Given the description of an element on the screen output the (x, y) to click on. 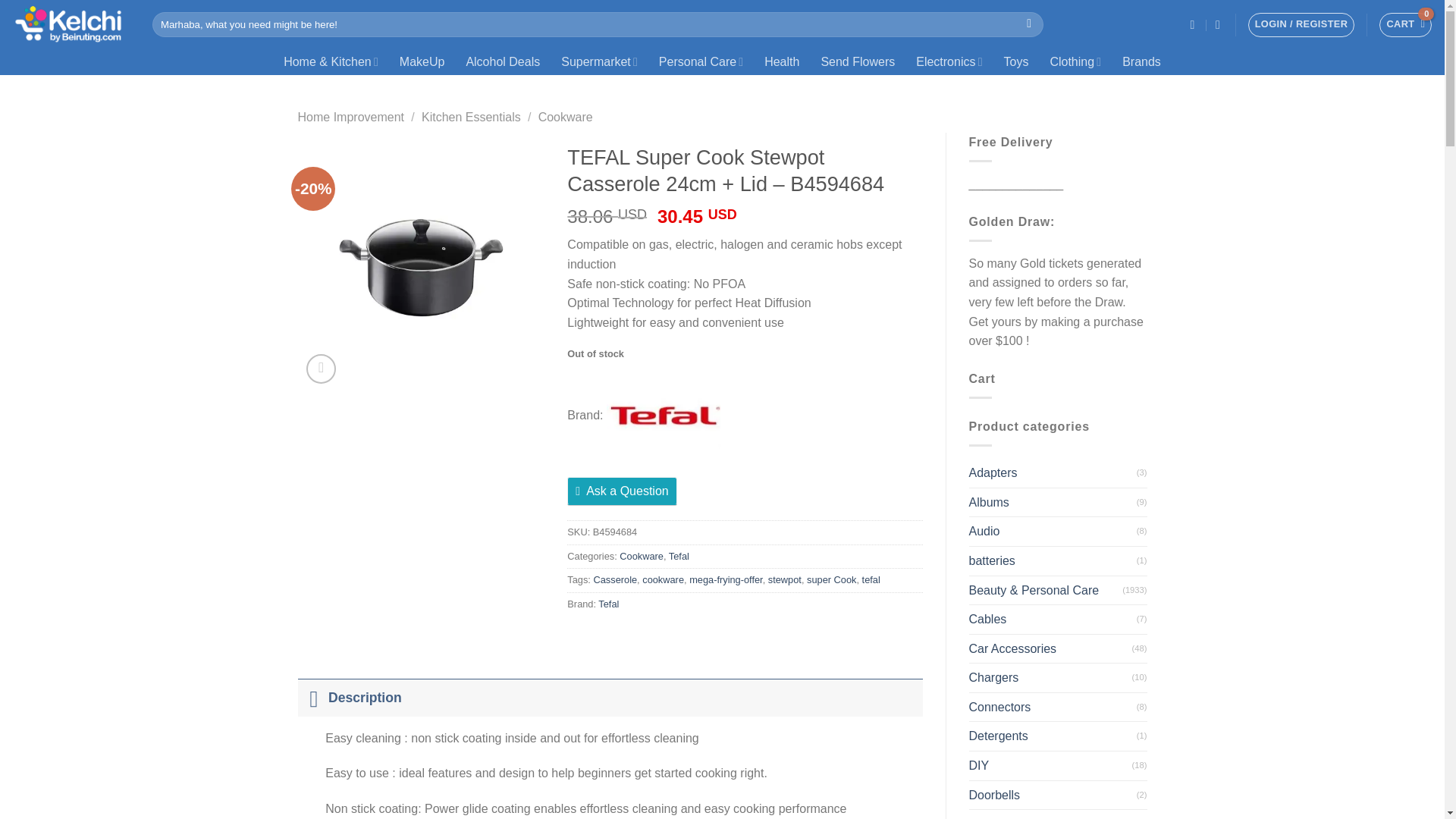
Search (1029, 24)
Login (1301, 24)
Zoom (320, 368)
CART (1404, 24)
MakeUp (421, 61)
Alcohol Deals (502, 61)
Cart (1404, 24)
Supermarket (598, 61)
Personal Care (700, 61)
